Given the description of an element on the screen output the (x, y) to click on. 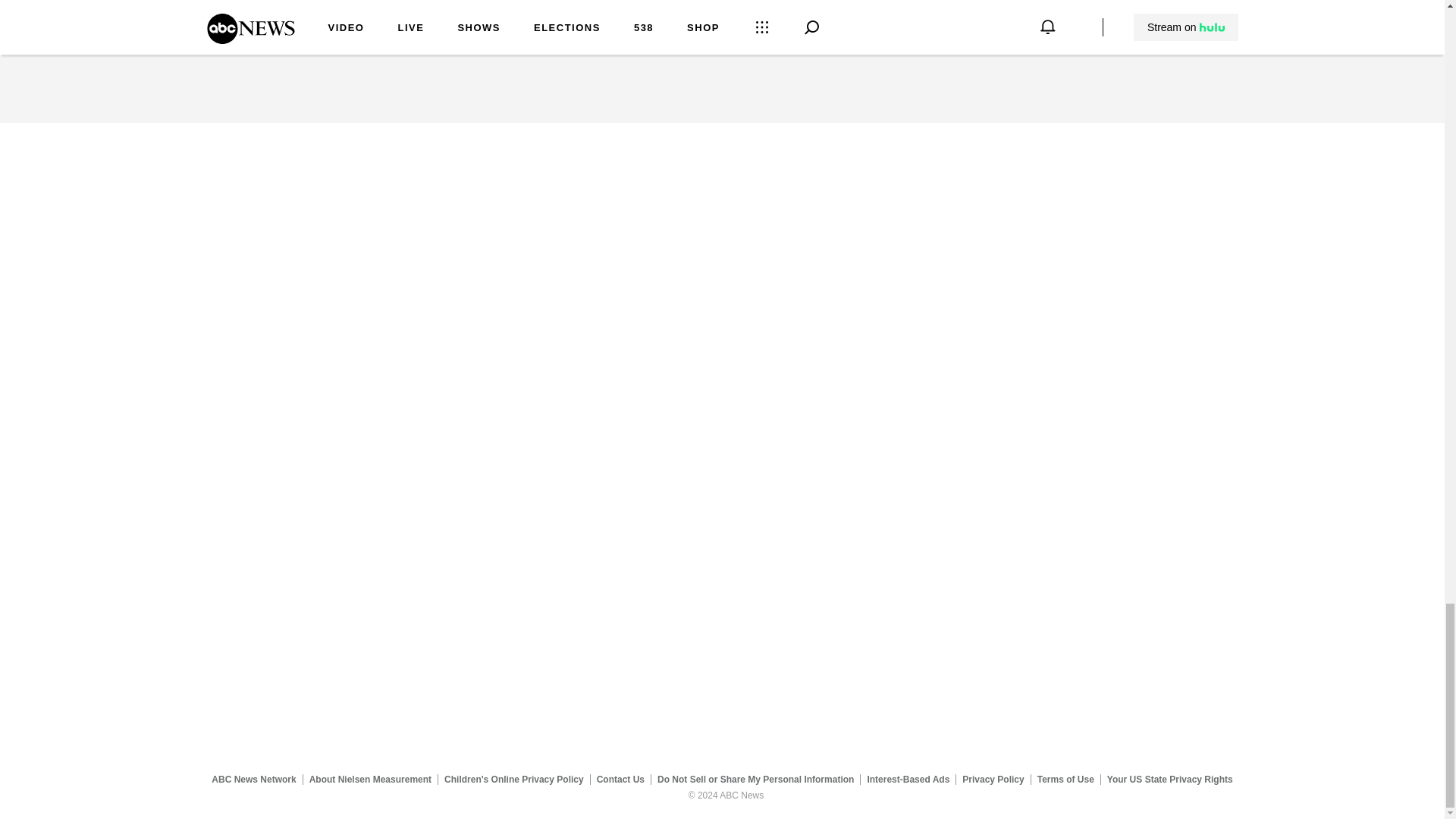
Do Not Sell or Share My Personal Information (755, 778)
Children's Online Privacy Policy (514, 778)
Interest-Based Ads (908, 778)
Your US State Privacy Rights (1169, 778)
Privacy Policy (993, 778)
Terms of Use (1065, 778)
About Nielsen Measurement (370, 778)
Contact Us (620, 778)
ABC News Network (253, 778)
